Given the description of an element on the screen output the (x, y) to click on. 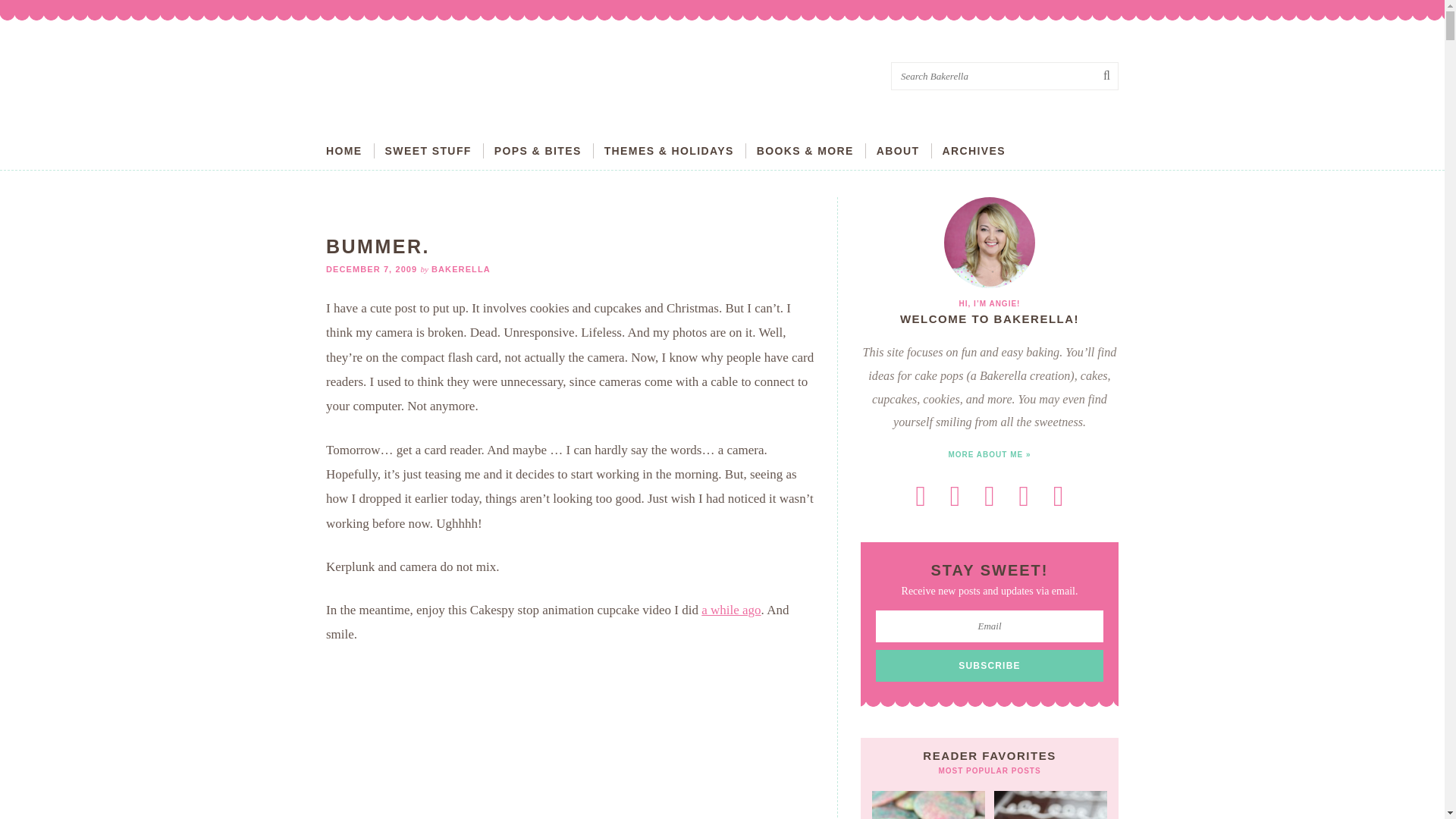
BAKERELLA (460, 268)
Instagram (1058, 495)
Facebook (989, 495)
SWEET STUFF (428, 150)
ABOUT (897, 150)
RSS (920, 495)
HOME (344, 150)
ARCHIVES (974, 150)
Twitter (955, 495)
Pinterest (1024, 495)
a while ago (730, 609)
